Given the description of an element on the screen output the (x, y) to click on. 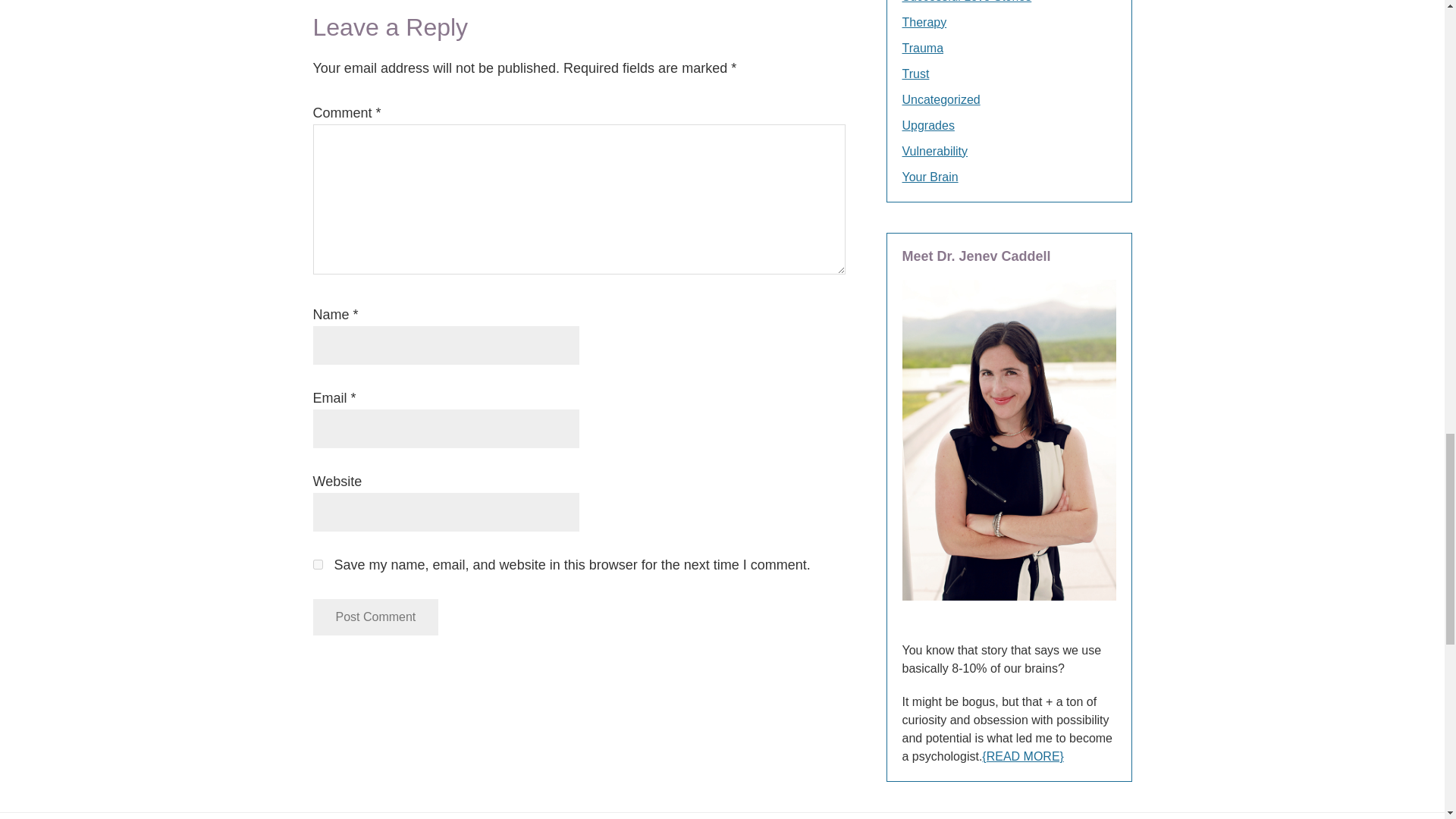
Post Comment (375, 616)
Post Comment (375, 616)
yes (317, 564)
